Given the description of an element on the screen output the (x, y) to click on. 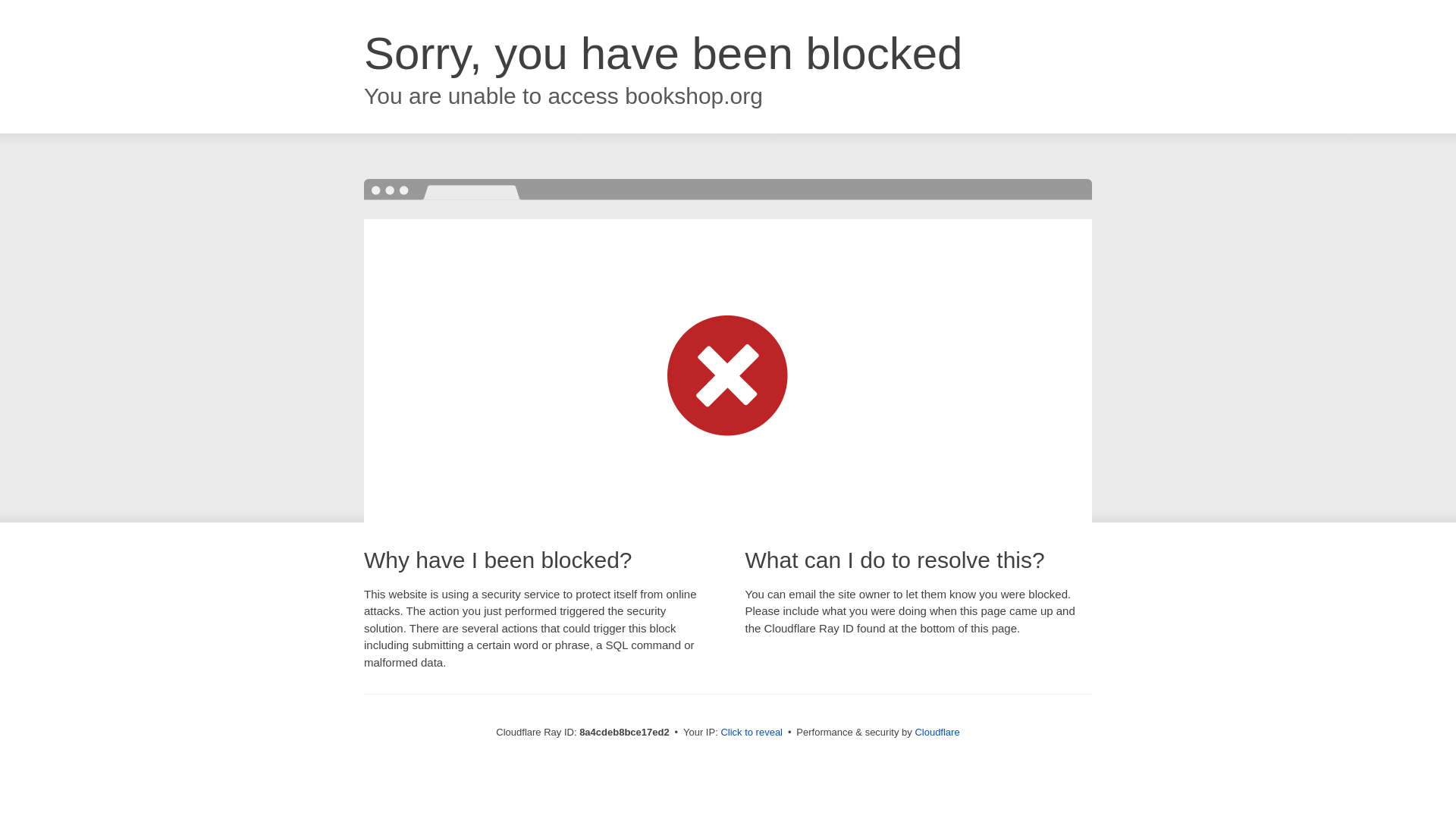
Cloudflare (936, 731)
Click to reveal (751, 732)
